Given the description of an element on the screen output the (x, y) to click on. 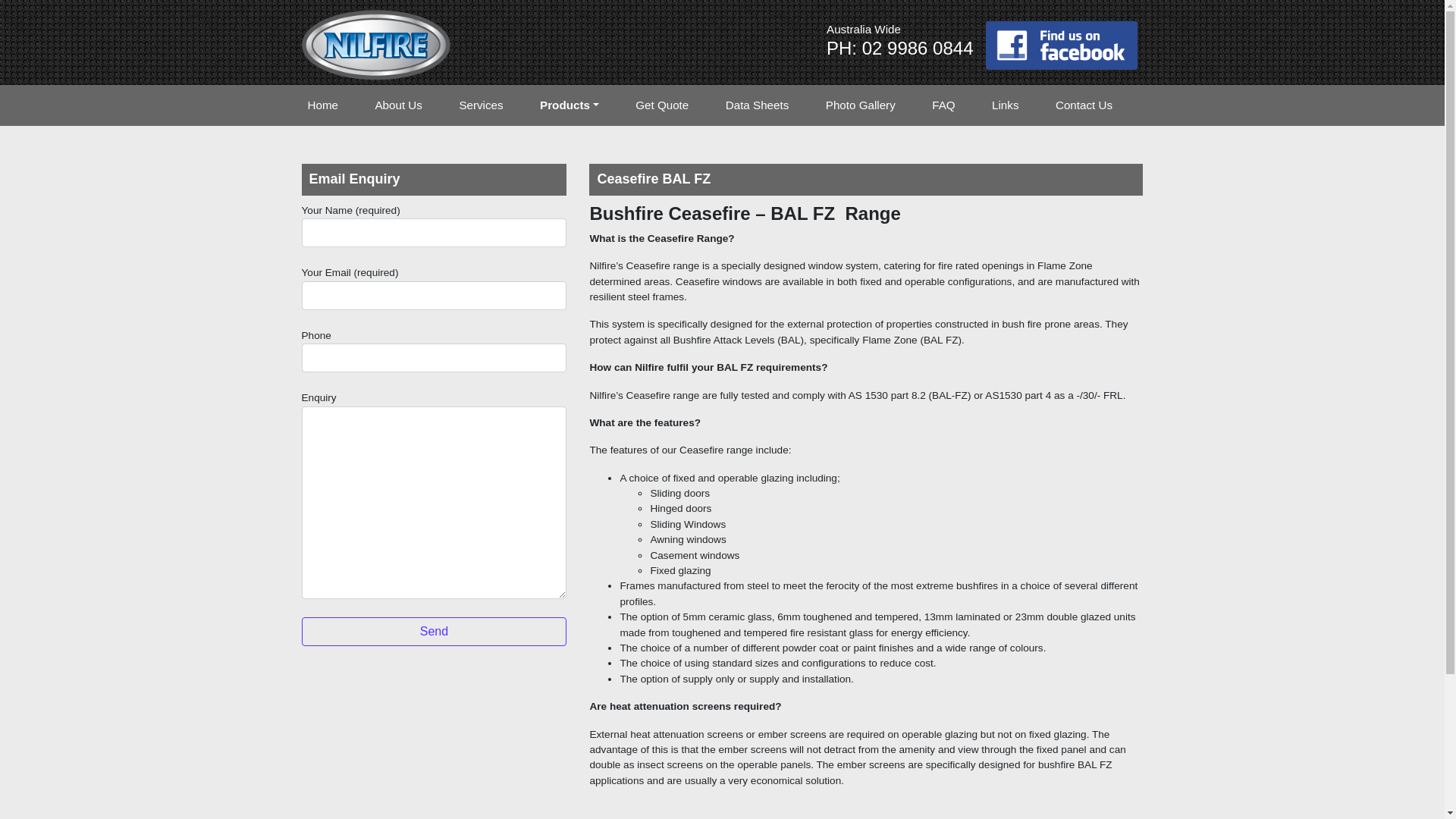
Australia Wide
PH: 02 9986 0844 Element type: text (899, 45)
Services Element type: text (492, 105)
Contact Us Element type: text (1096, 105)
Data Sheets Element type: text (769, 105)
FAQ Element type: text (955, 105)
Home Element type: text (335, 105)
About Us Element type: text (410, 105)
Photo Gallery Element type: text (872, 105)
Get Quote Element type: text (674, 105)
Products Element type: text (581, 105)
Send Element type: text (434, 631)
Links Element type: text (1017, 105)
